Given the description of an element on the screen output the (x, y) to click on. 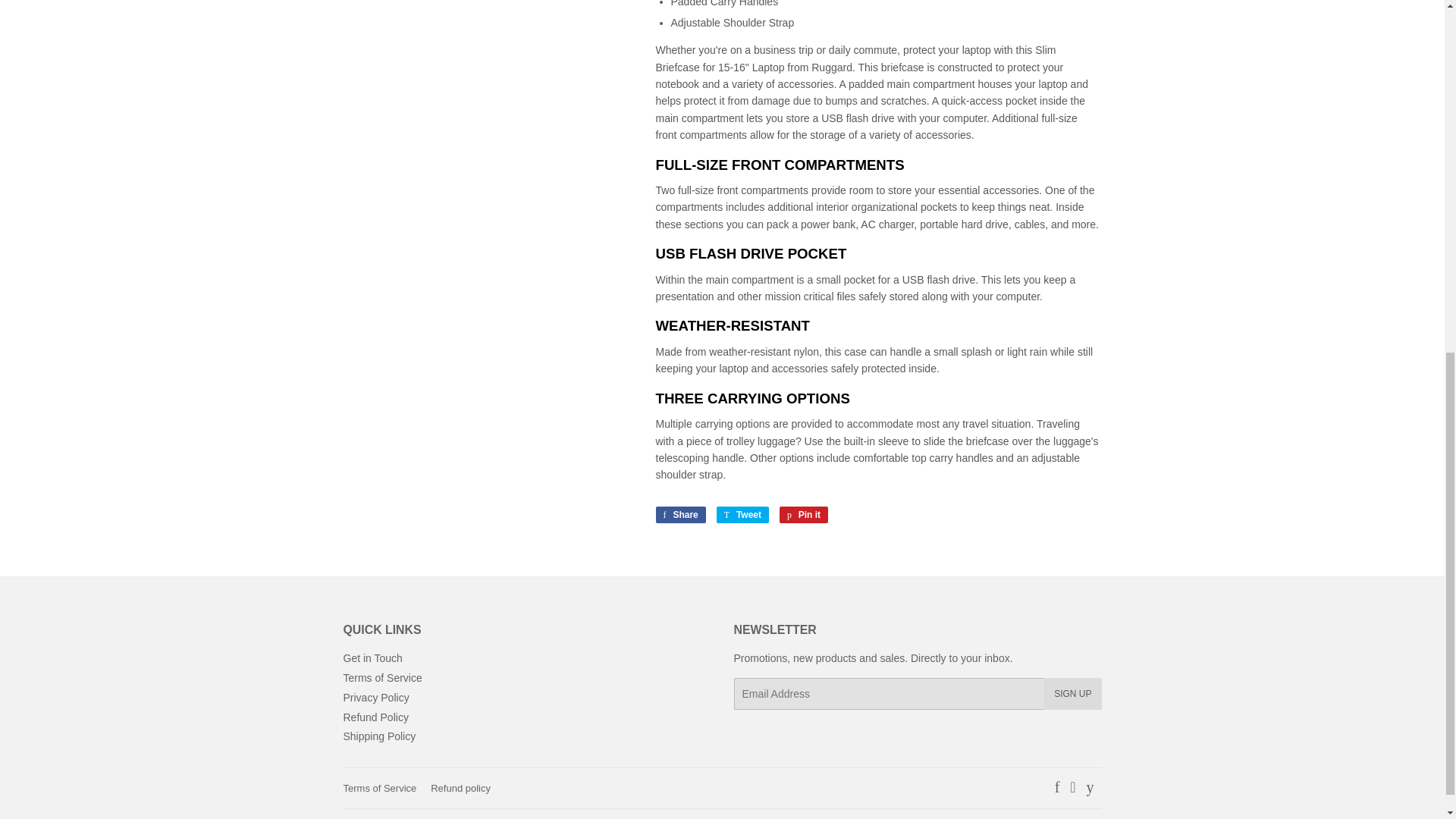
Tweet on Twitter (742, 514)
Share on Facebook (679, 514)
Pin on Pinterest (803, 514)
